Given the description of an element on the screen output the (x, y) to click on. 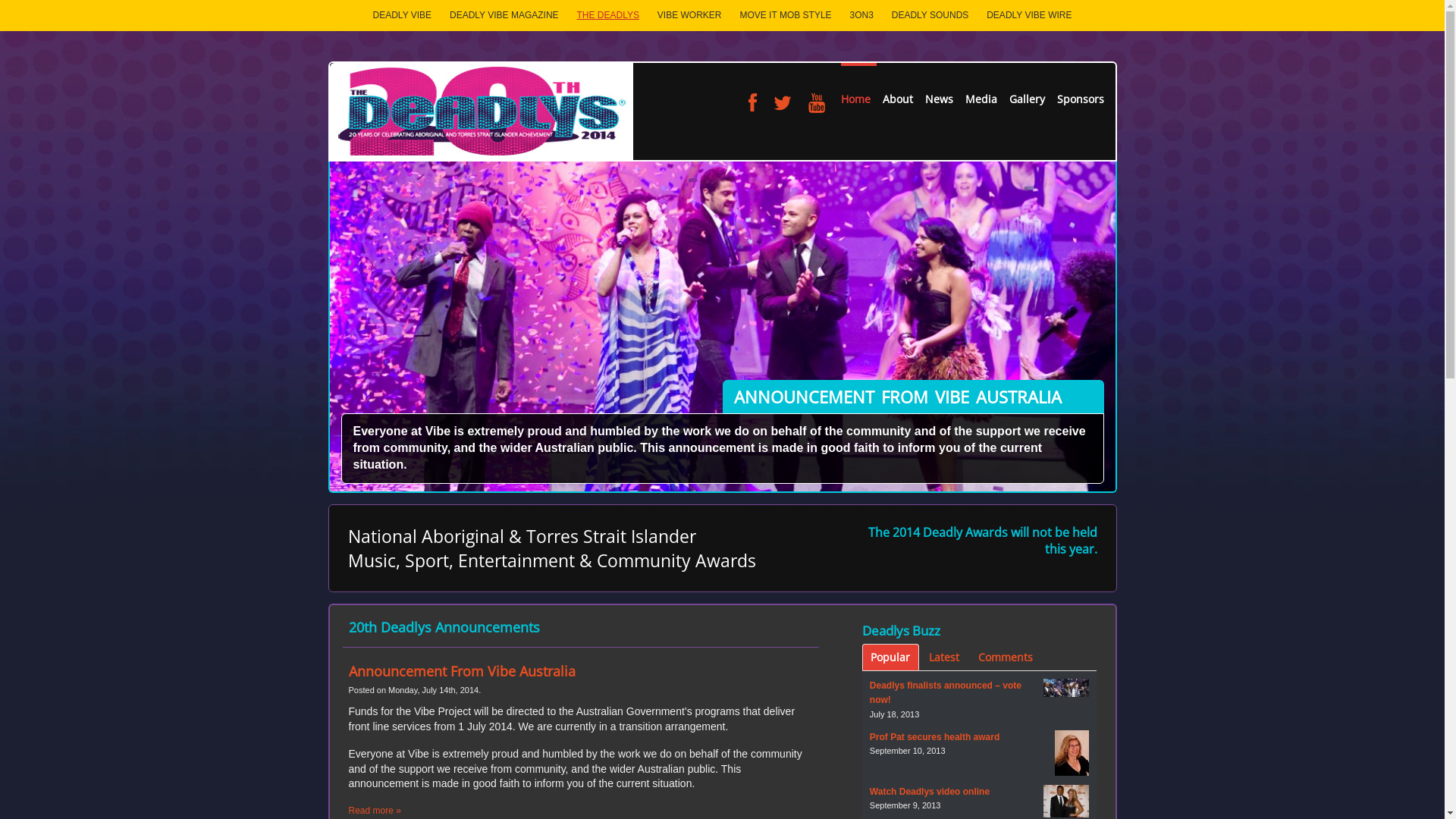
DEADLY VIBE WIRE Element type: text (1029, 15)
Prof Pat secures health award Element type: text (934, 736)
Popular Element type: text (890, 656)
Announcement From Vibe Australia Element type: text (461, 671)
DEADLY VIBE Element type: text (402, 15)
Watch Deadlys video online Element type: text (929, 791)
Gallery Element type: text (1026, 89)
Media Element type: text (980, 89)
About Element type: text (897, 89)
20th Deadlys Announcements Element type: text (443, 627)
MOVE IT MOB STYLE Element type: text (784, 15)
DEADLY SOUNDS Element type: text (930, 15)
VIBE WORKER Element type: text (689, 15)
Home Element type: text (857, 89)
THE DEADLYS Element type: text (607, 15)
DEADLY VIBE MAGAZINE Element type: text (504, 15)
Comments Element type: text (1005, 656)
3ON3 Element type: text (860, 15)
News Element type: text (939, 89)
Sponsors Element type: text (1077, 89)
Latest Element type: text (944, 656)
